Given the description of an element on the screen output the (x, y) to click on. 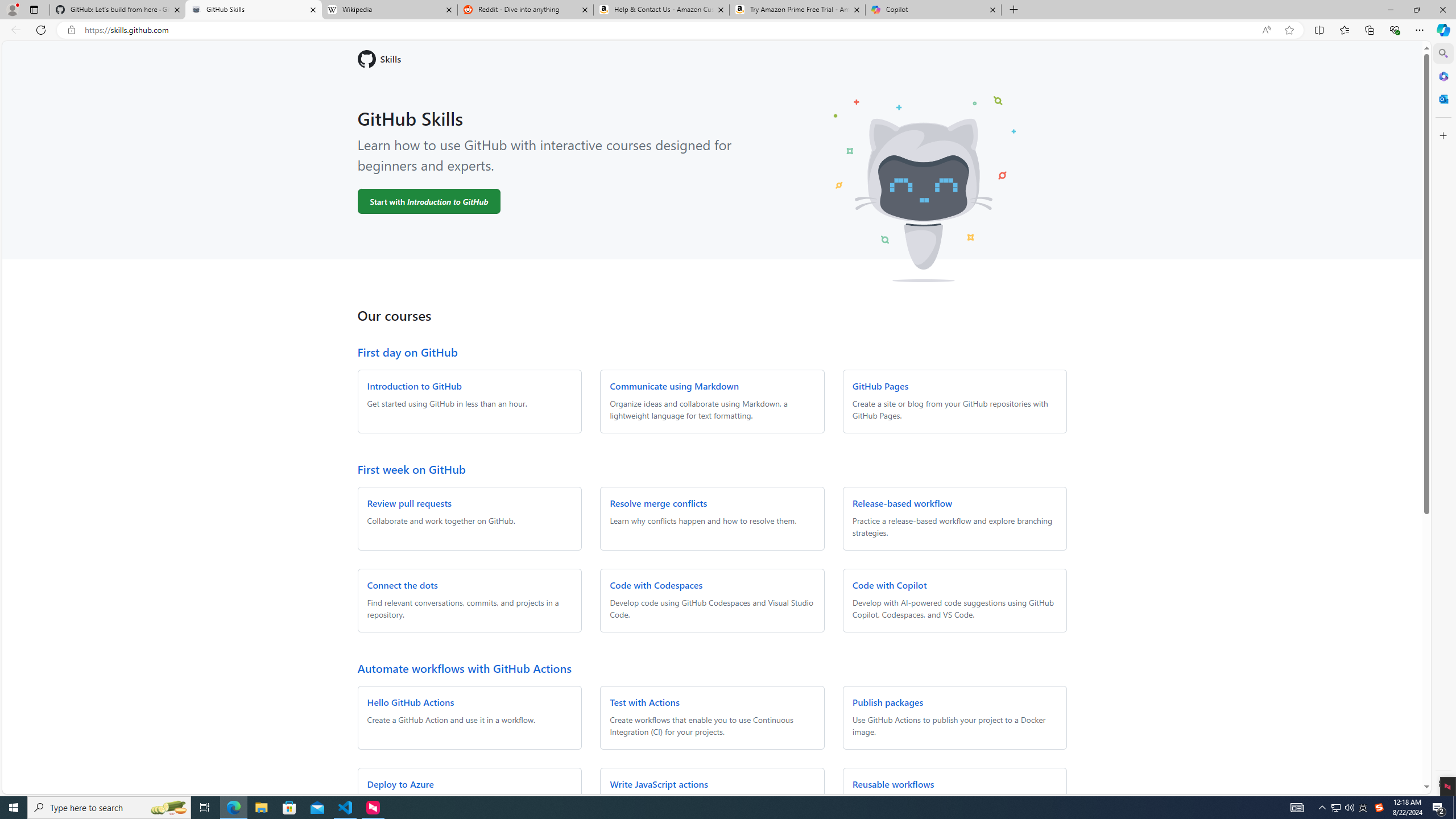
GitHub Skills (253, 9)
Reddit - Dive into anything (525, 9)
Start with Introduction to GitHub (428, 201)
Automate workflows with GitHub Actions (464, 667)
Deploy to Azure (399, 784)
